Given the description of an element on the screen output the (x, y) to click on. 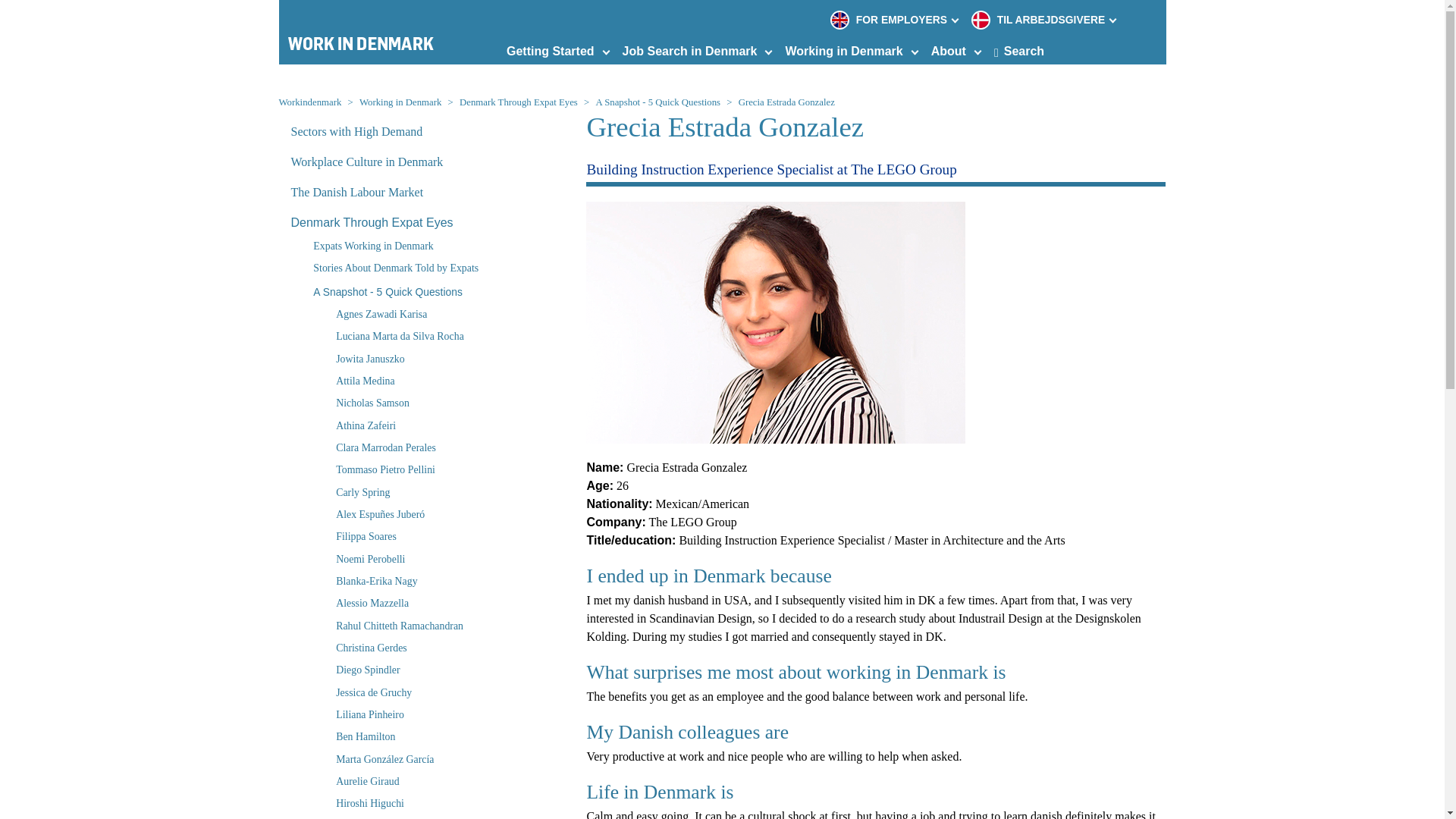
FOR EMPLOYERS (889, 19)
Getting Started (550, 51)
Job Search in Denmark (690, 51)
TIL ARBEJDSGIVERE (1039, 19)
